Given the description of an element on the screen output the (x, y) to click on. 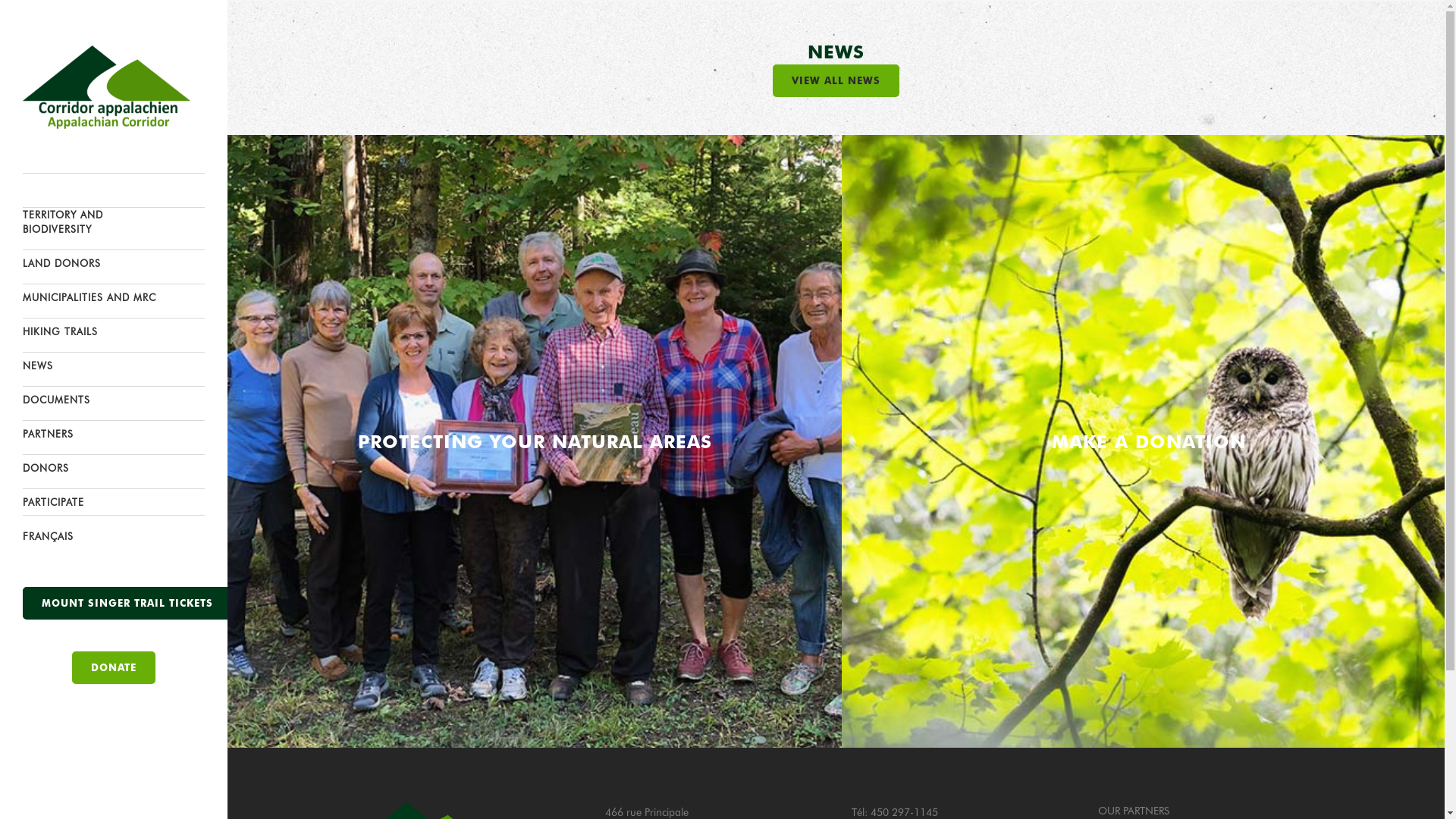
MOUNT SINGER TRAIL TICKETS Element type: text (127, 602)
APPALACHIAN CORRIDOR Element type: text (113, 185)
DOCUMENTS Element type: text (113, 398)
PARTNERS Element type: text (113, 433)
VIEW ALL NEWS Element type: text (835, 80)
PARTICIPATE Element type: text (113, 501)
DONATE Element type: text (113, 667)
LAND DONORS Element type: text (113, 262)
TERRITORY AND BIODIVERSITY Element type: text (113, 224)
NEWS Element type: text (113, 364)
MUNICIPALITIES AND MRC Element type: text (113, 296)
DONORS Element type: text (113, 467)
HIKING TRAILS Element type: text (113, 330)
